Given the description of an element on the screen output the (x, y) to click on. 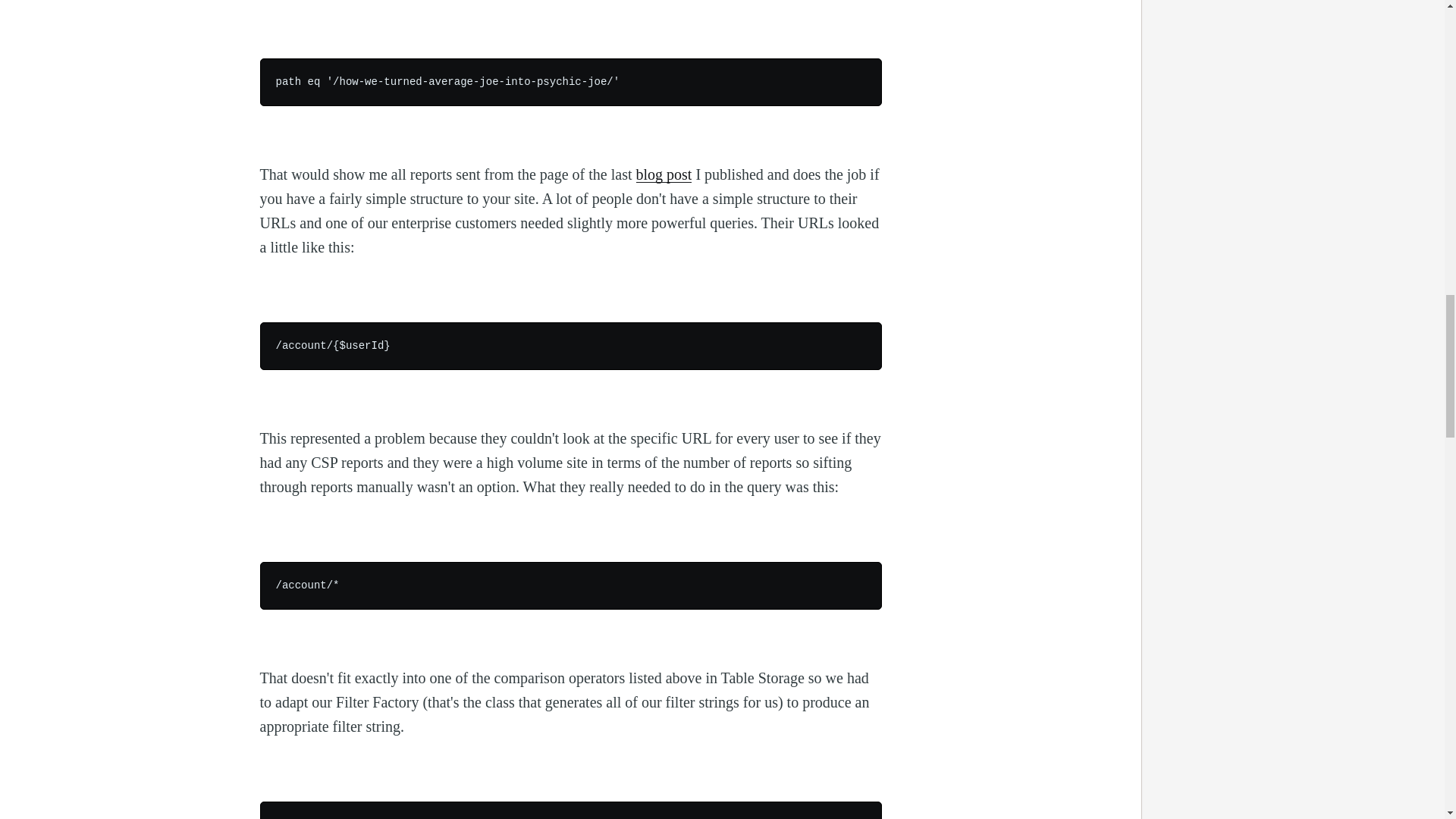
blog post (662, 174)
